Given the description of an element on the screen output the (x, y) to click on. 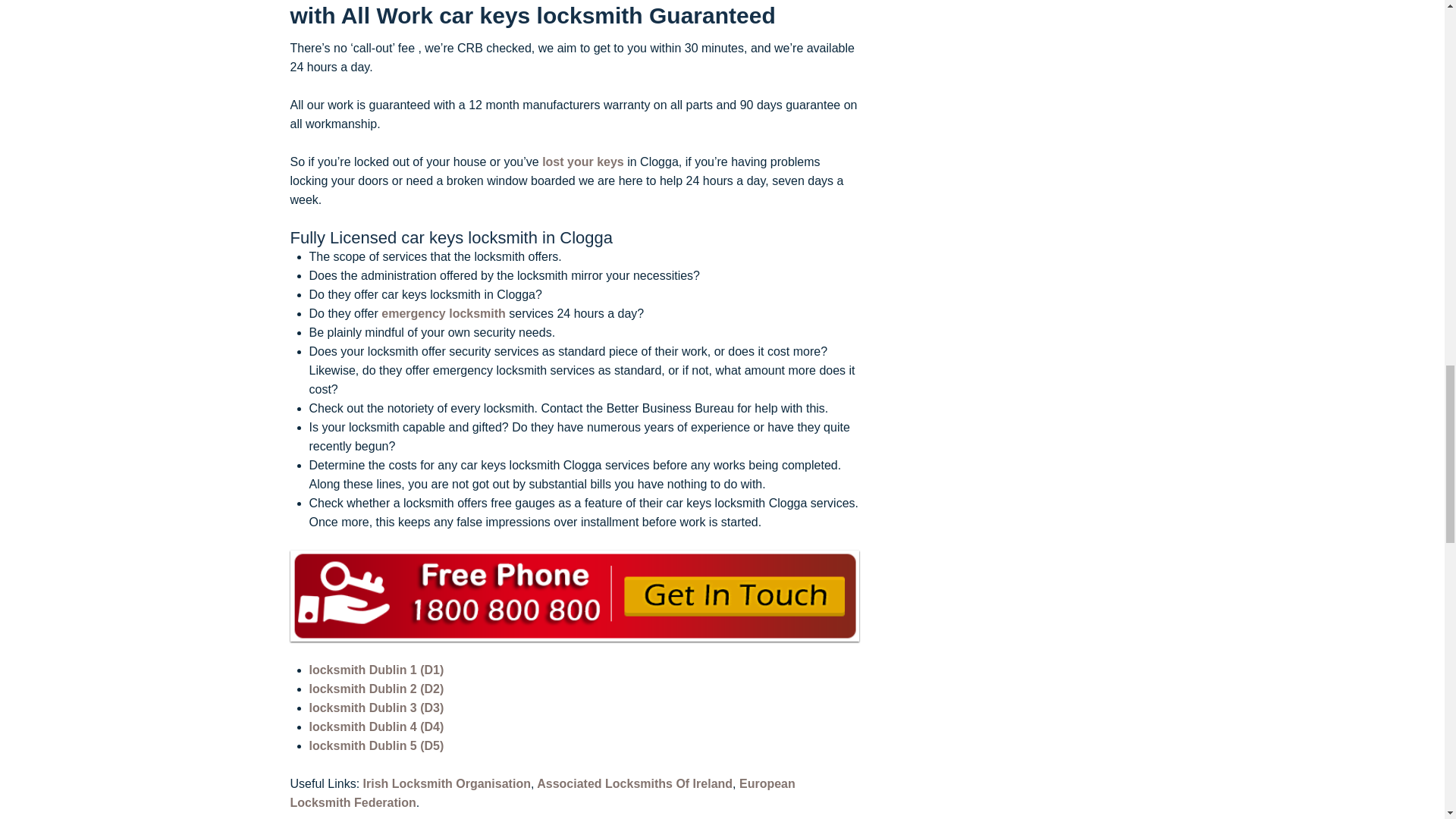
European Locksmith Federation (541, 793)
Irish Locksmith Organisation (446, 783)
lost your keys (582, 161)
emergency locksmith (443, 313)
Associated Locksmiths Of Ireland (633, 783)
